Given the description of an element on the screen output the (x, y) to click on. 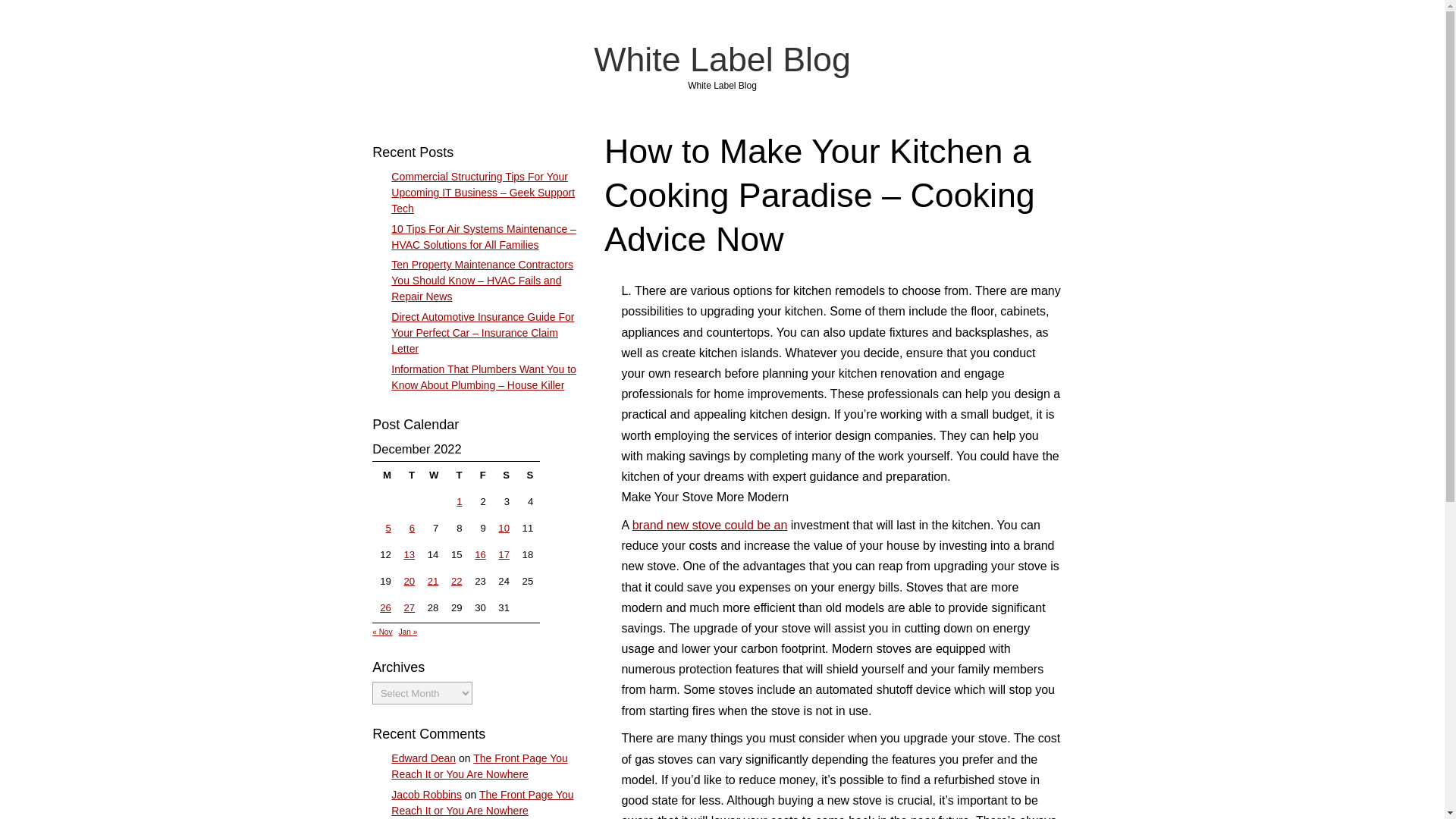
16 (480, 554)
27 (408, 607)
Jacob Robbins (426, 794)
17 (503, 554)
Edward Dean (423, 758)
The Front Page You Reach It or You Are Nowhere (482, 802)
The Front Page You Reach It or You Are Nowhere (479, 766)
13 (408, 554)
21 (433, 581)
brand new stove could be an (709, 524)
